Given the description of an element on the screen output the (x, y) to click on. 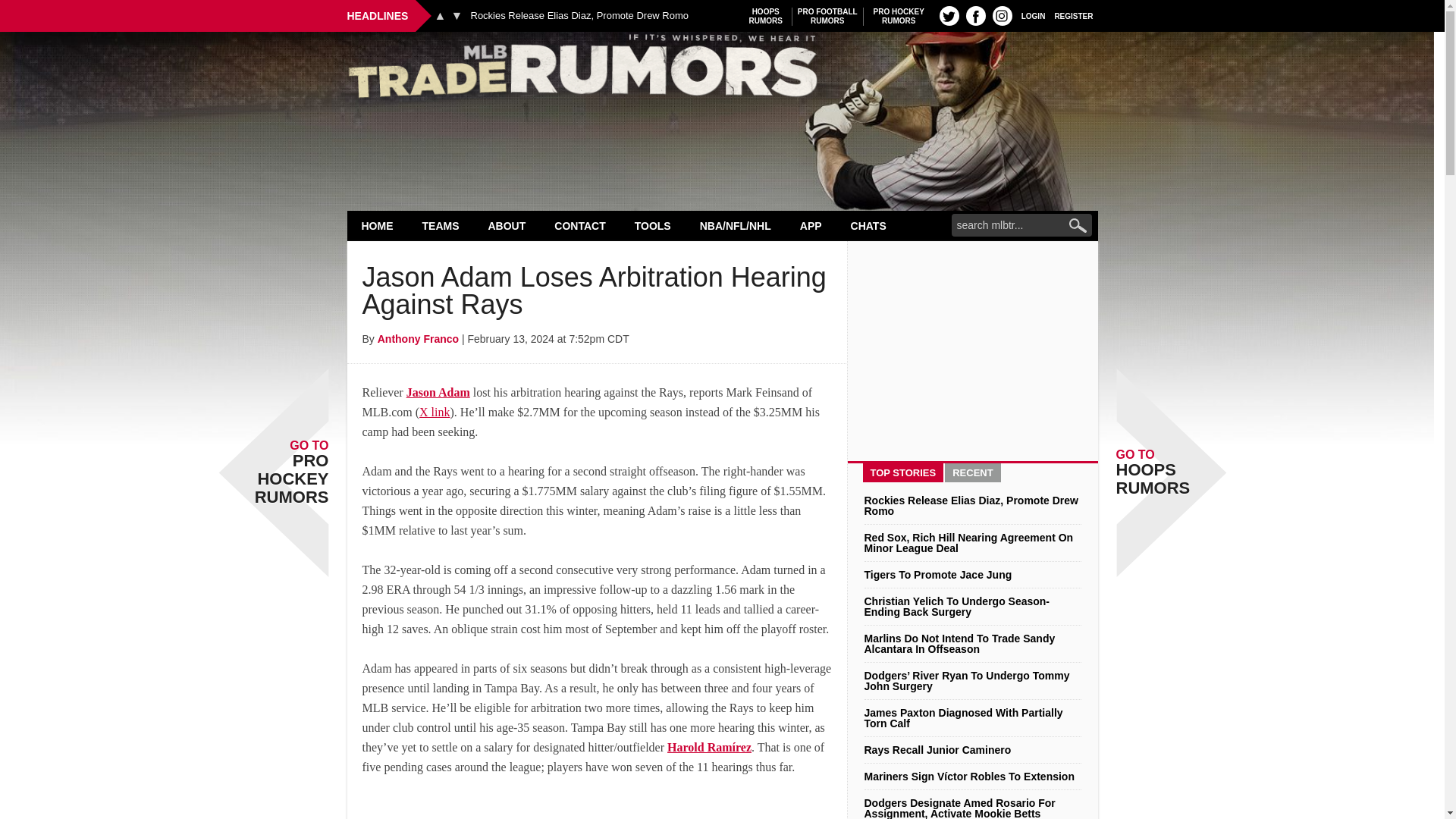
Twitter profile (949, 15)
TEAMS (440, 225)
Instagram profile (1001, 15)
REGISTER (1073, 15)
Rockies Release Elias Diaz, Promote Drew Romo (579, 15)
LOGIN (1032, 15)
Search (827, 16)
